Given the description of an element on the screen output the (x, y) to click on. 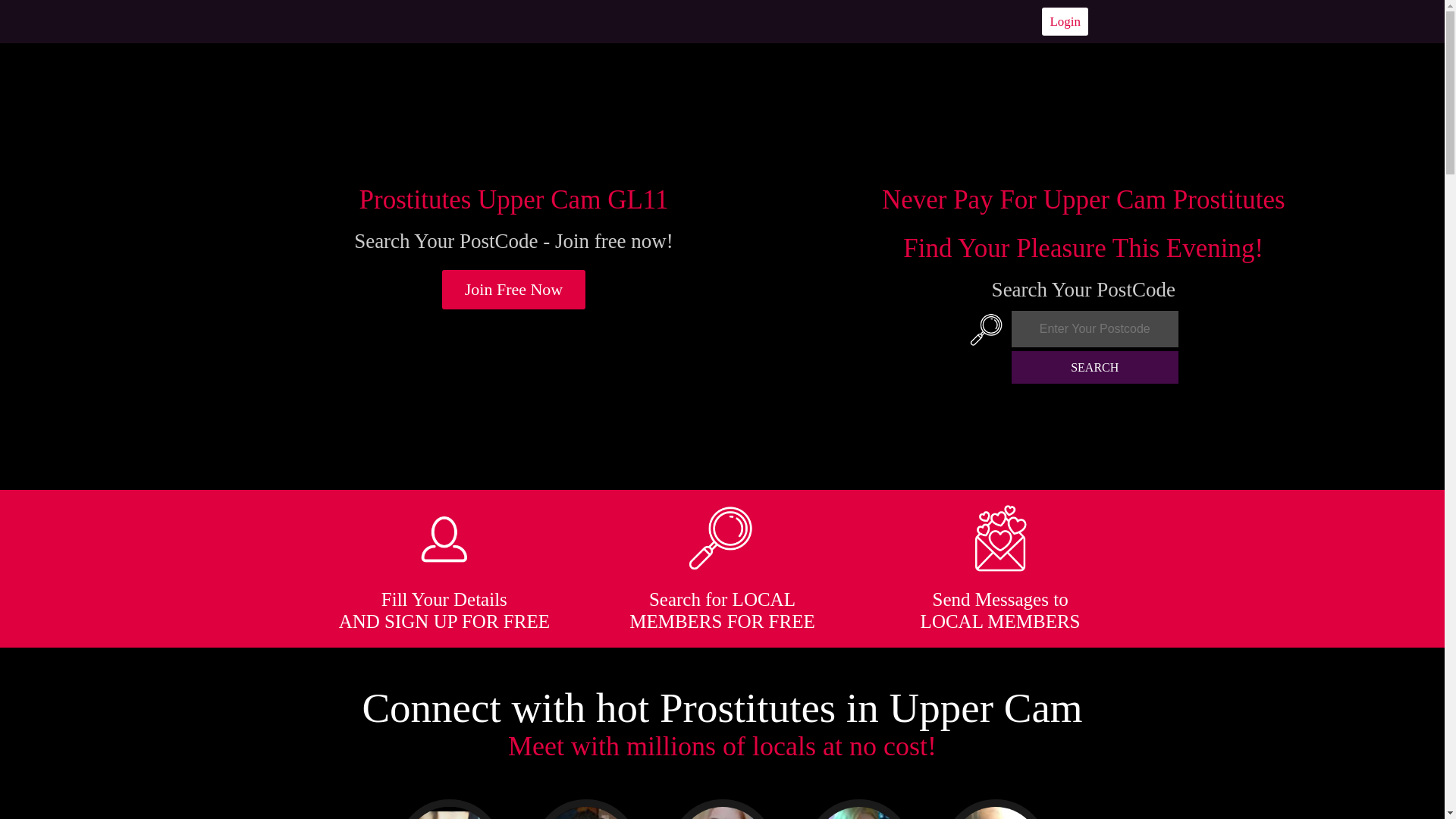
Login (1064, 21)
Login (1064, 21)
Join (514, 289)
Join Free Now (514, 289)
SEARCH (1094, 367)
